Given the description of an element on the screen output the (x, y) to click on. 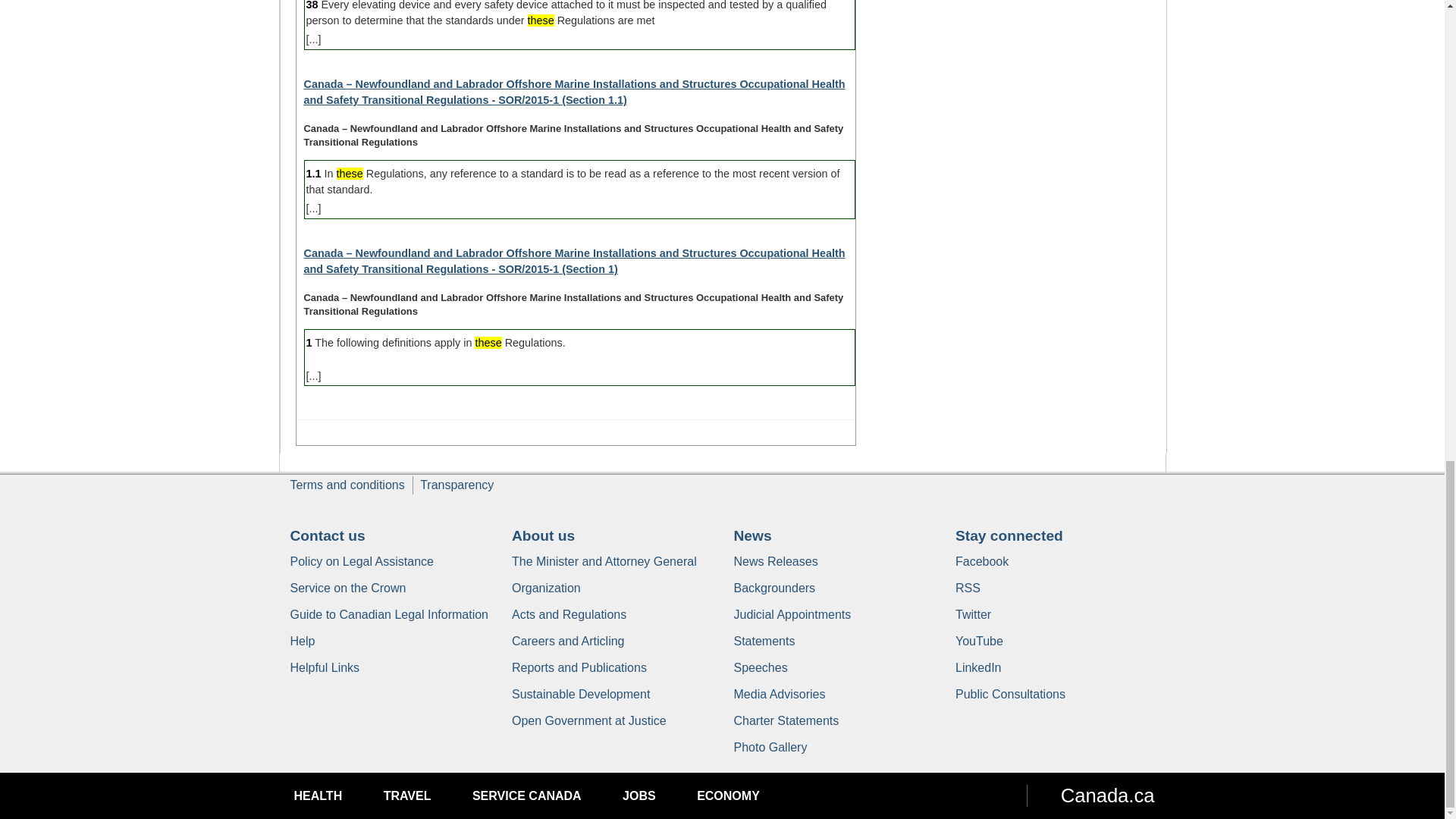
Transparency (456, 484)
Help (301, 640)
Service on the Crown (347, 587)
Policy on Legal Assistance (360, 561)
Terms and conditions (346, 484)
Guide to Canadian Legal Information (388, 614)
Helpful links (324, 667)
Helpful Links (324, 667)
Contact us (327, 535)
